Given the description of an element on the screen output the (x, y) to click on. 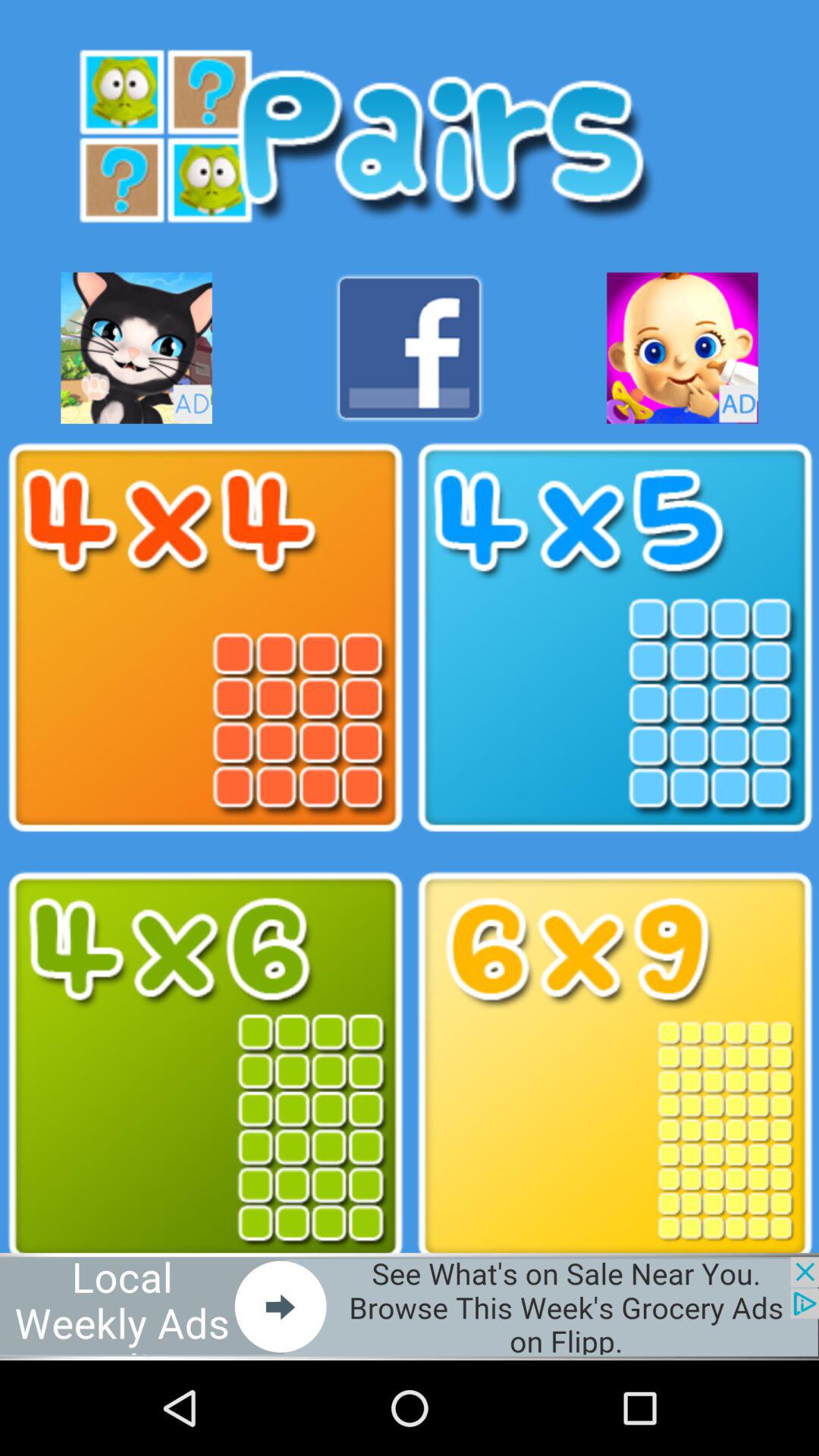
click the square (204, 637)
